Given the description of an element on the screen output the (x, y) to click on. 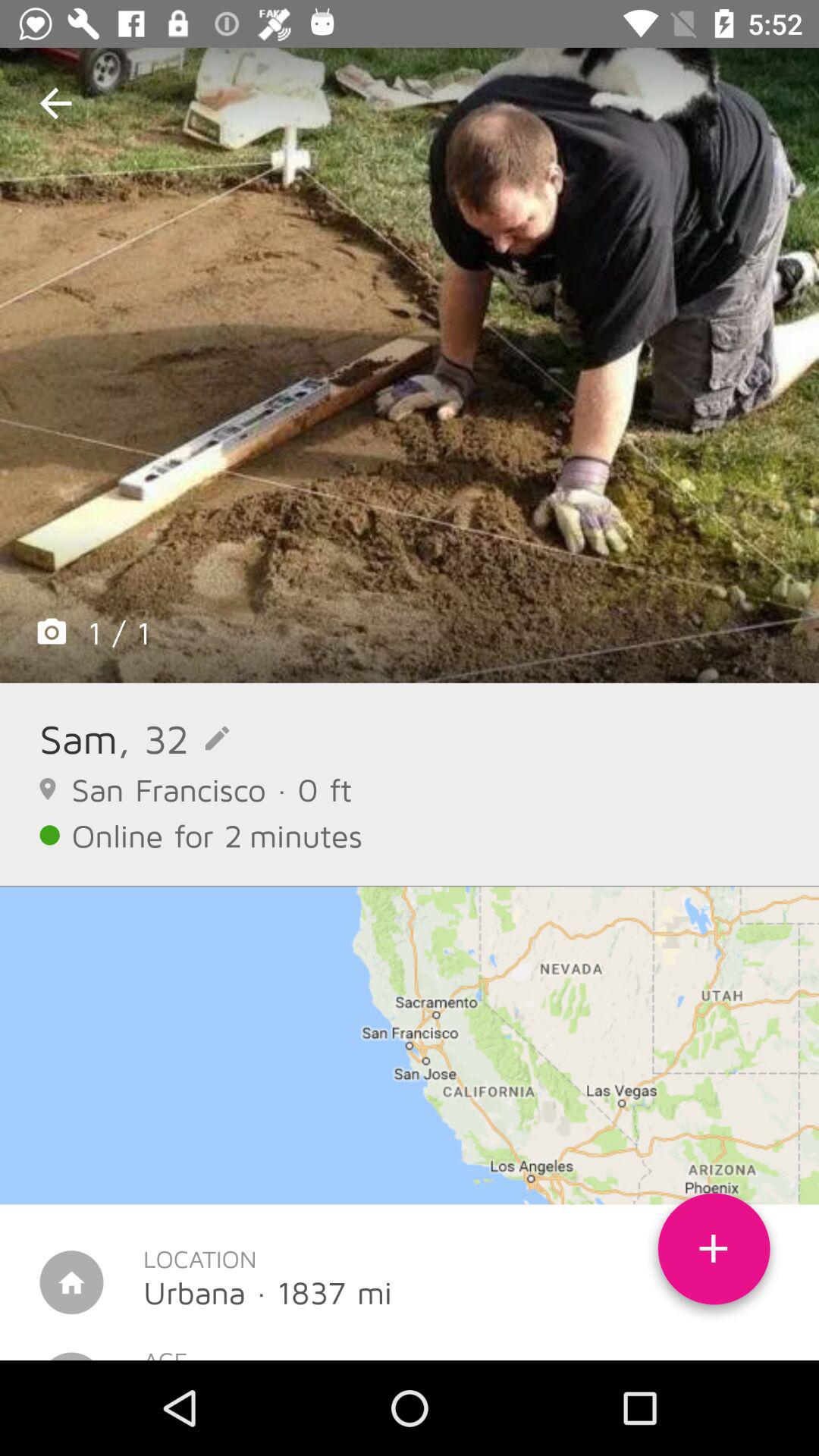
choose the item to the left of the , 32 (78, 738)
